Given the description of an element on the screen output the (x, y) to click on. 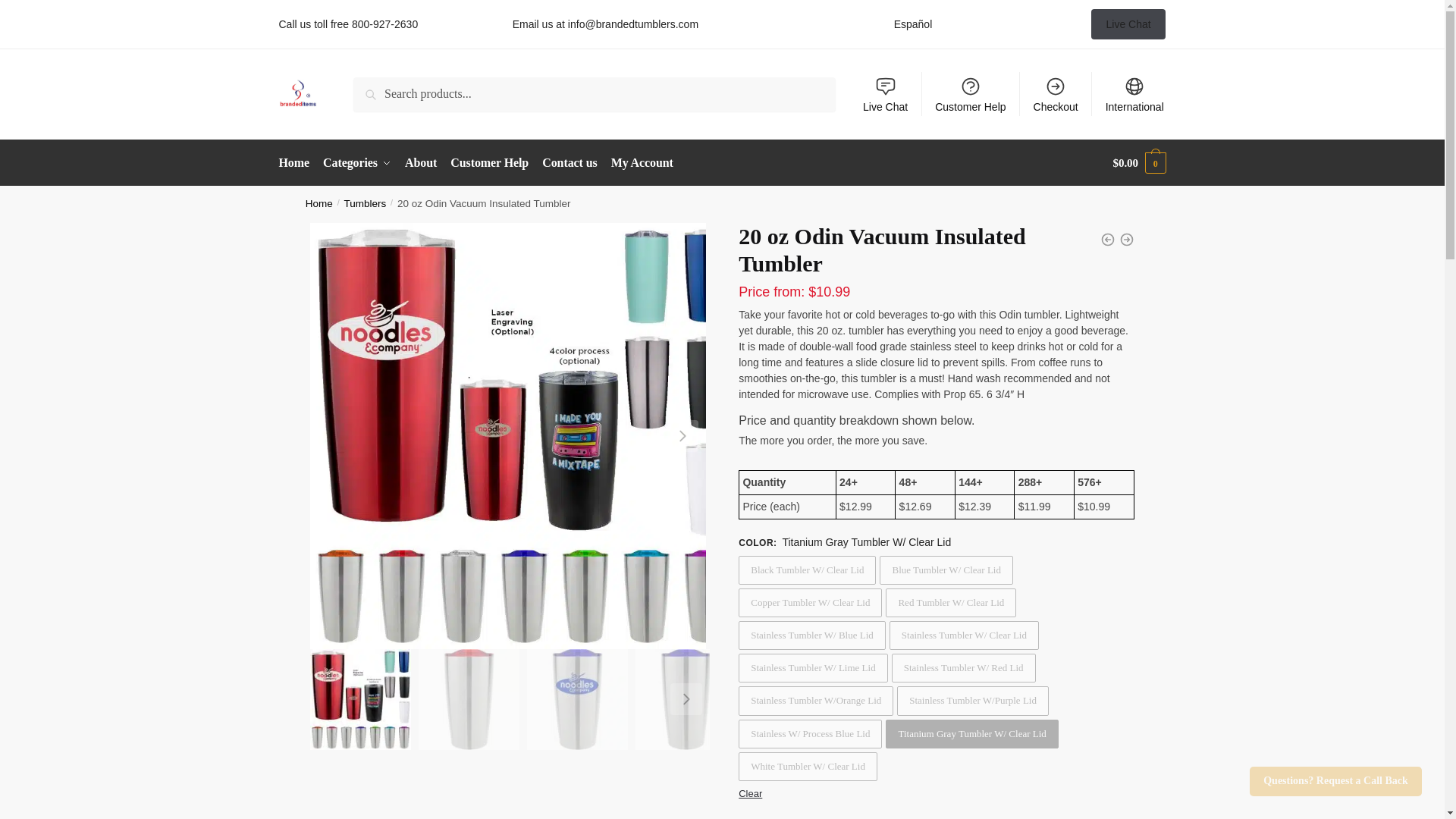
Categories (356, 162)
International (1134, 94)
Call us toll free 800-927-2630 (349, 24)
View your shopping cart (1139, 162)
Live Chat (1128, 24)
Checkout (1055, 94)
Live Chat (885, 94)
Search (374, 87)
Customer Help (970, 94)
